Given the description of an element on the screen output the (x, y) to click on. 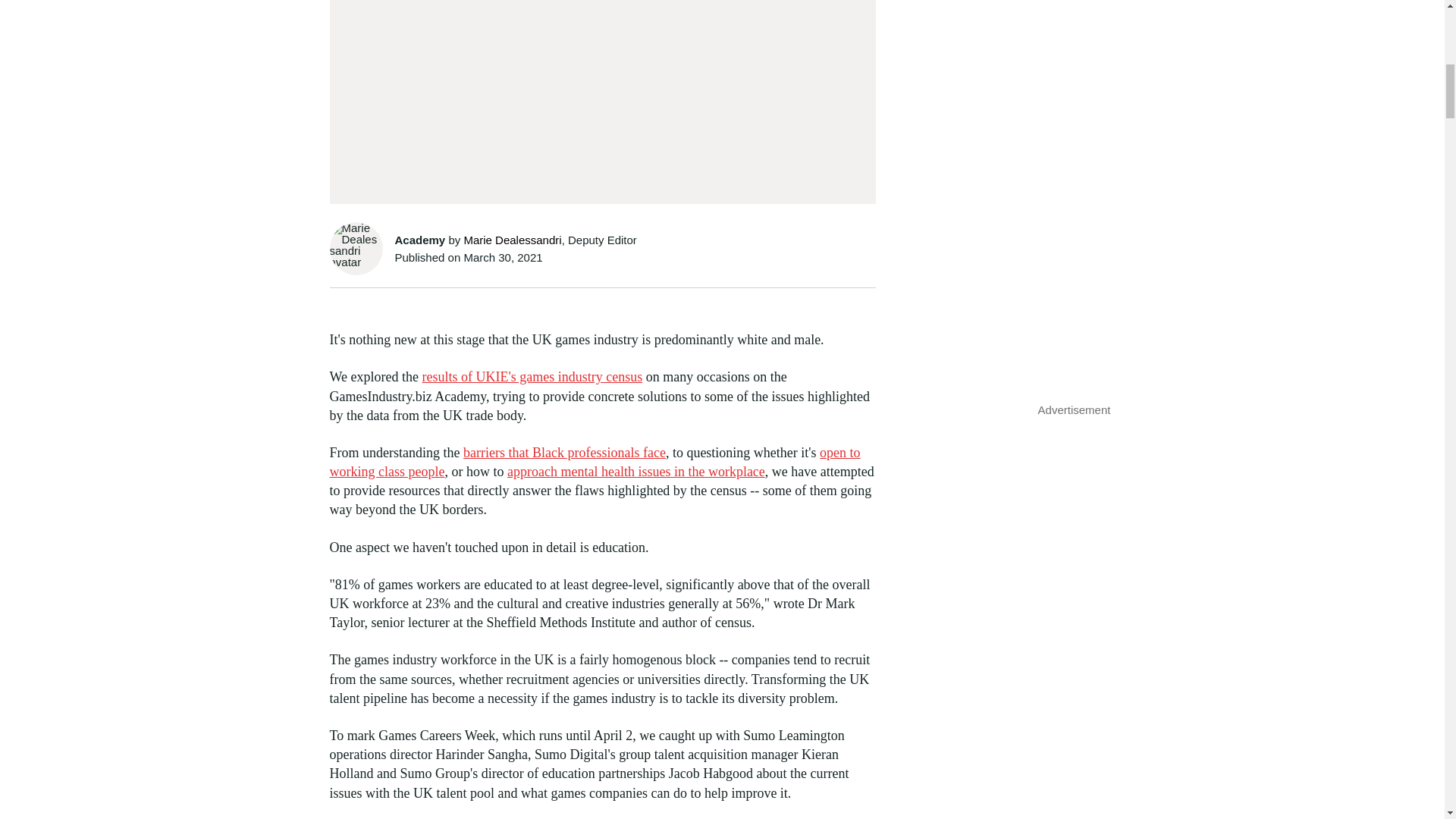
approach mental health issues in the workplace (635, 471)
barriers that Black professionals face (564, 452)
results of UKIE's games industry census (532, 376)
open to working class people (594, 462)
Marie Dealessandri (511, 239)
